Given the description of an element on the screen output the (x, y) to click on. 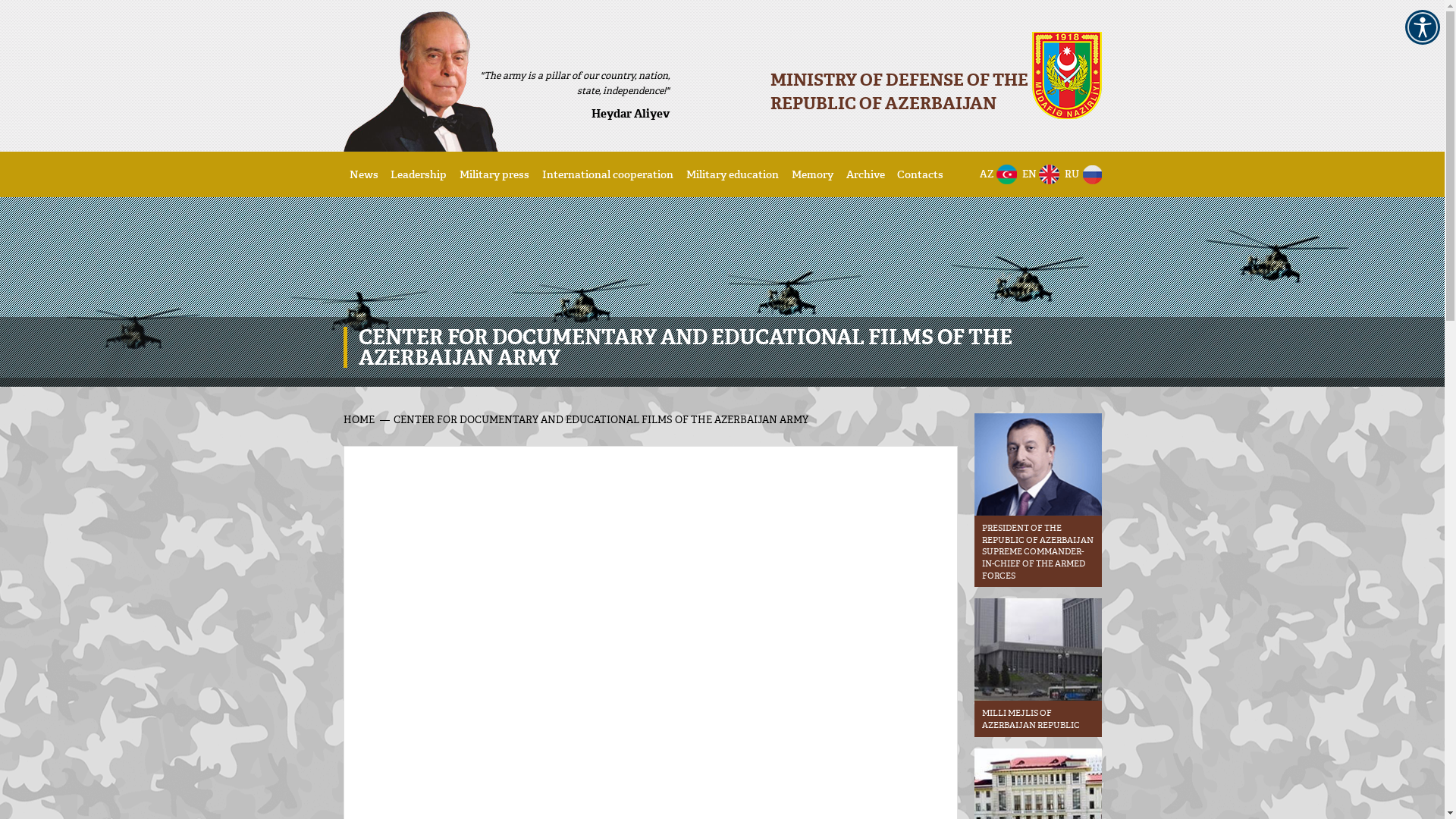
Archive Element type: text (865, 174)
HOME Element type: text (357, 419)
RU Element type: text (1079, 174)
Leadership Element type: text (418, 174)
MILLI MEJLIS OF AZERBAIJAN REPUBLIC Element type: text (1037, 667)
News Element type: text (362, 174)
International cooperation Element type: text (607, 174)
MINISTRY OF DEFENSE OF THE
REPUBLIC OF AZERBAIJAN Element type: text (920, 75)
Military press Element type: text (494, 174)
Contacts Element type: text (920, 174)
Memory Element type: text (812, 174)
EN Element type: text (1037, 174)
Military education Element type: text (732, 174)
AZ Element type: text (994, 174)
